Given the description of an element on the screen output the (x, y) to click on. 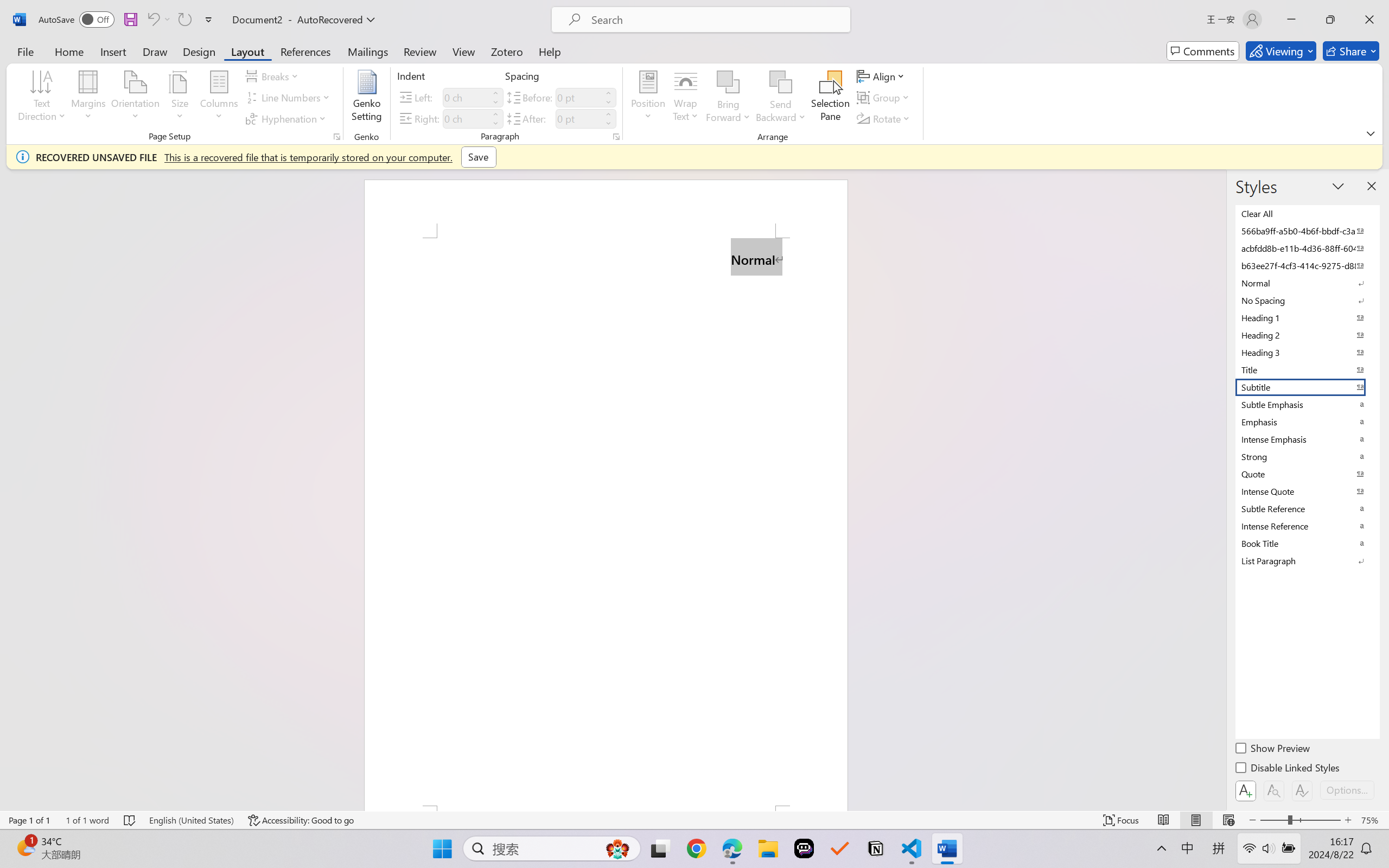
Indent Right (465, 118)
566ba9ff-a5b0-4b6f-bbdf-c3ab41993fc2 (1306, 230)
acbfdd8b-e11b-4d36-88ff-6049b138f862 (1306, 247)
Page 1 content (605, 521)
Wrap Text (685, 97)
Clear All (1306, 213)
Options... (1346, 789)
List Paragraph (1306, 560)
